Given the description of an element on the screen output the (x, y) to click on. 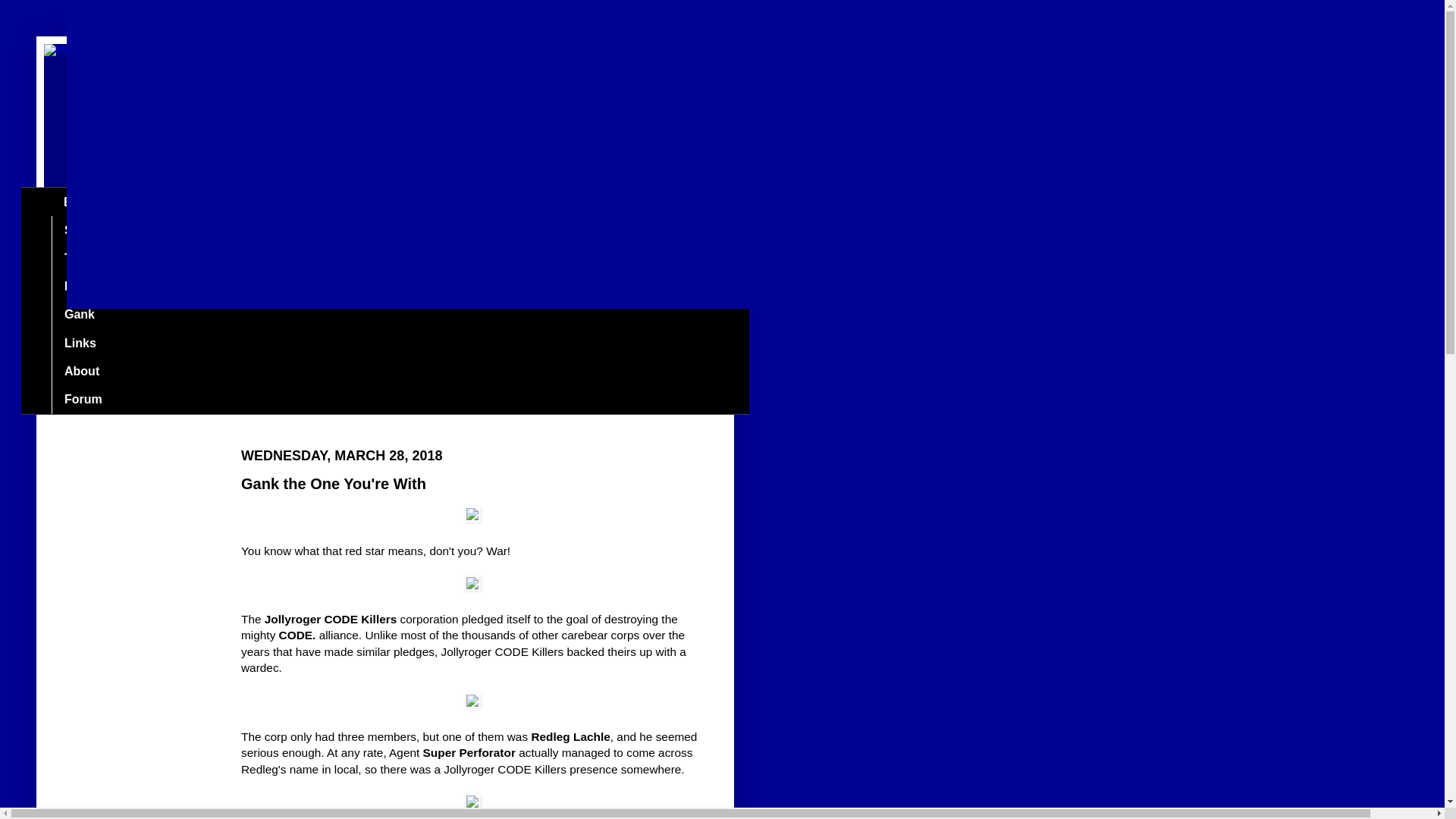
Forum (82, 398)
Shareholders (102, 230)
The Code (91, 257)
Links (78, 343)
Gank (78, 315)
BLOG (80, 202)
Become an Agent (114, 286)
About (81, 370)
